Given the description of an element on the screen output the (x, y) to click on. 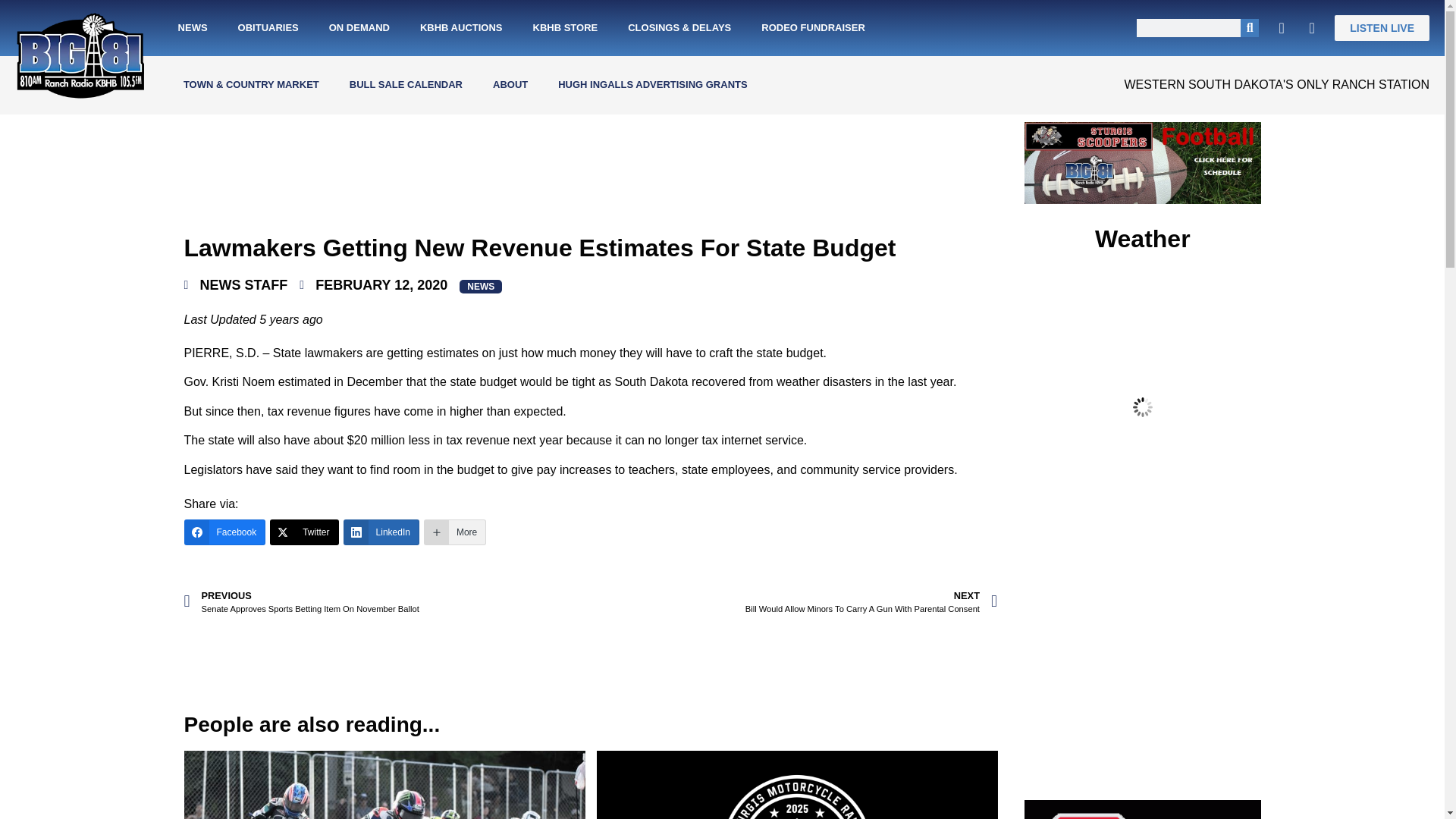
ON DEMAND (359, 27)
Scooper-Logo (1142, 809)
KBHB AUCTIONS (461, 27)
RODEO FUNDRAISER (812, 27)
NEWS (192, 27)
HUGH INGALLS ADVERTISING GRANTS (652, 84)
ABOUT (510, 84)
KBHB STORE (564, 27)
OBITUARIES (268, 27)
LISTEN LIVE (1382, 27)
